Given the description of an element on the screen output the (x, y) to click on. 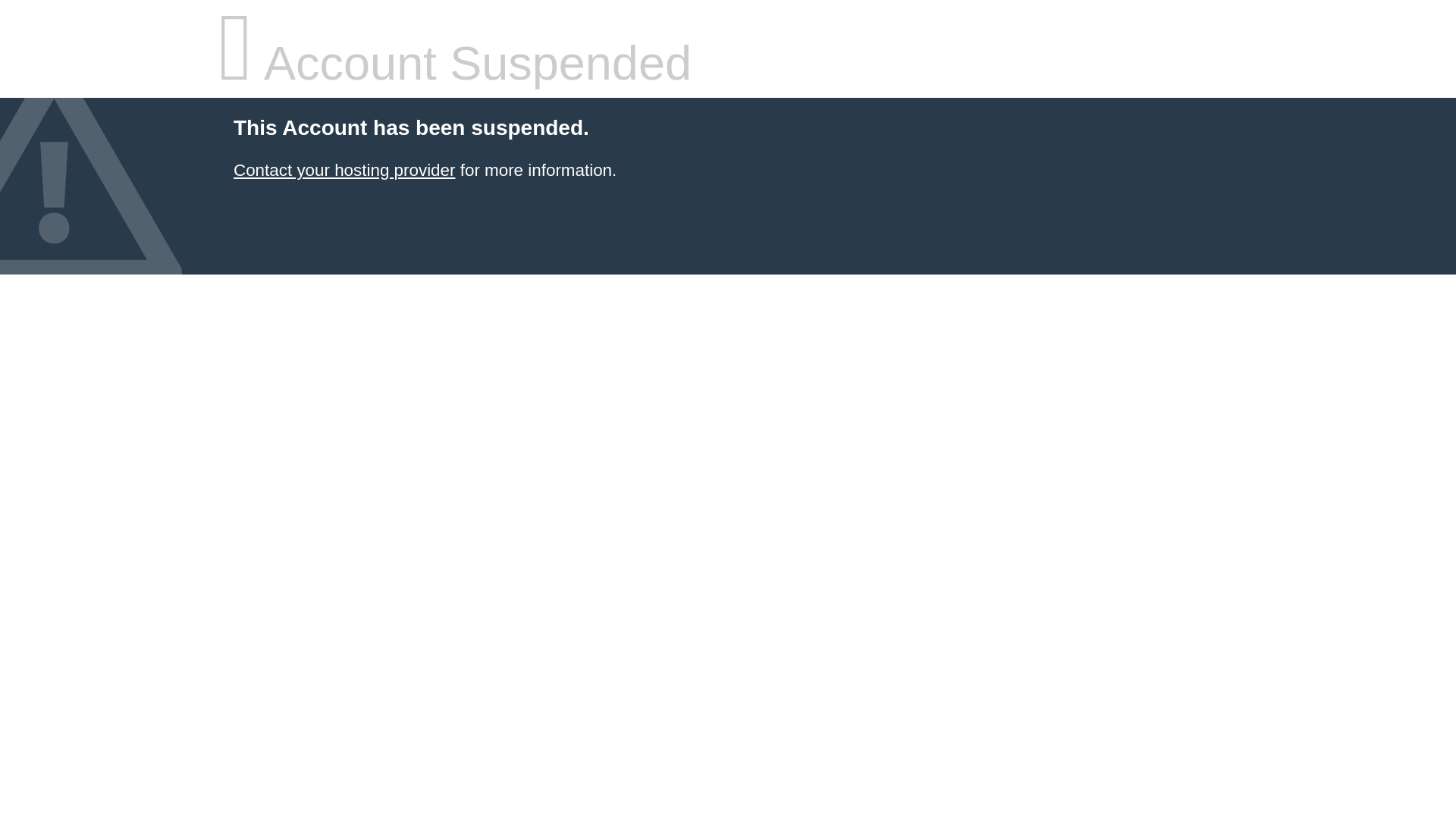
Contact your hosting provider (343, 169)
WebDetail LLC (343, 169)
